Given the description of an element on the screen output the (x, y) to click on. 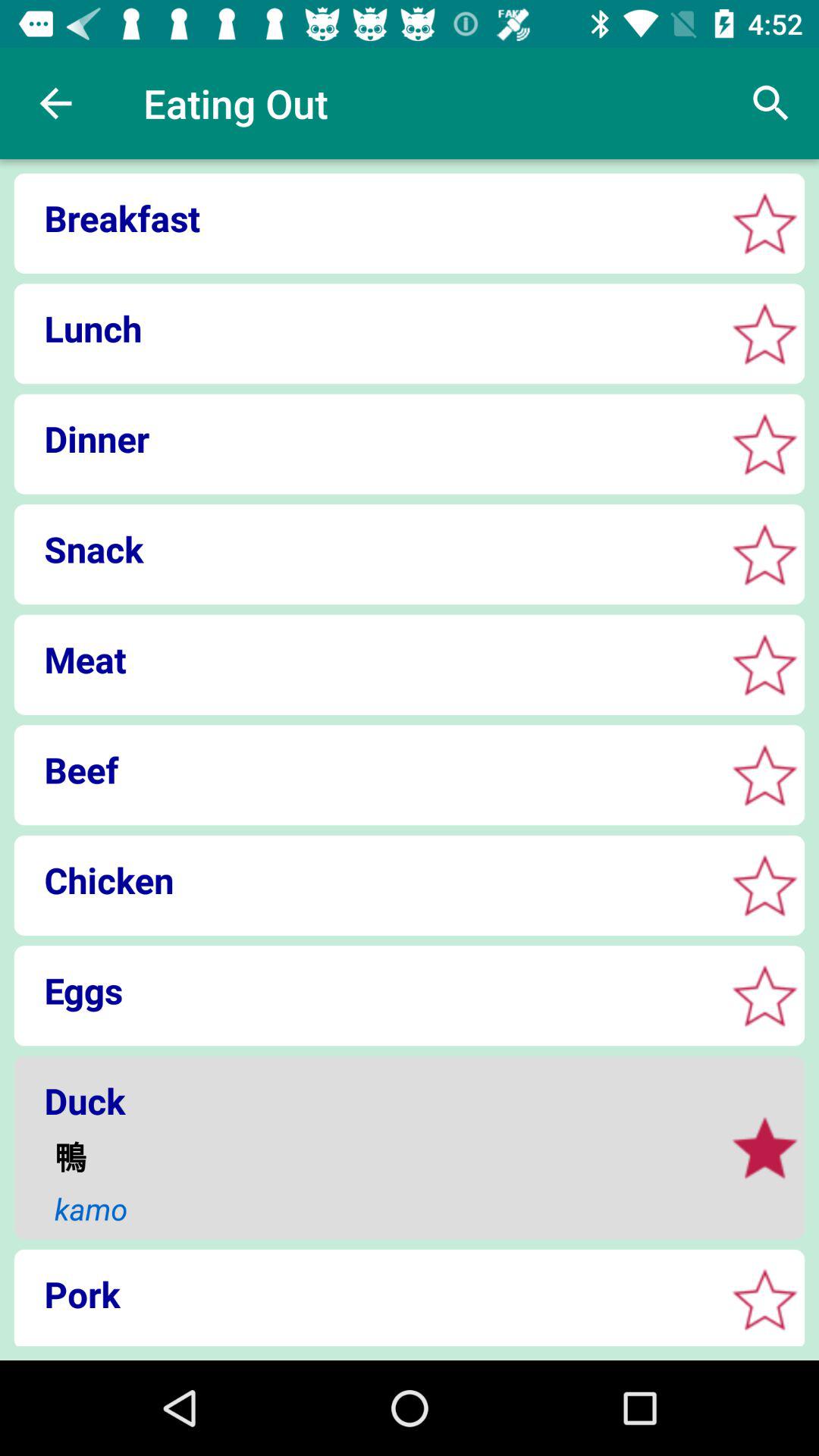
turn off the icon above snack item (364, 438)
